Given the description of an element on the screen output the (x, y) to click on. 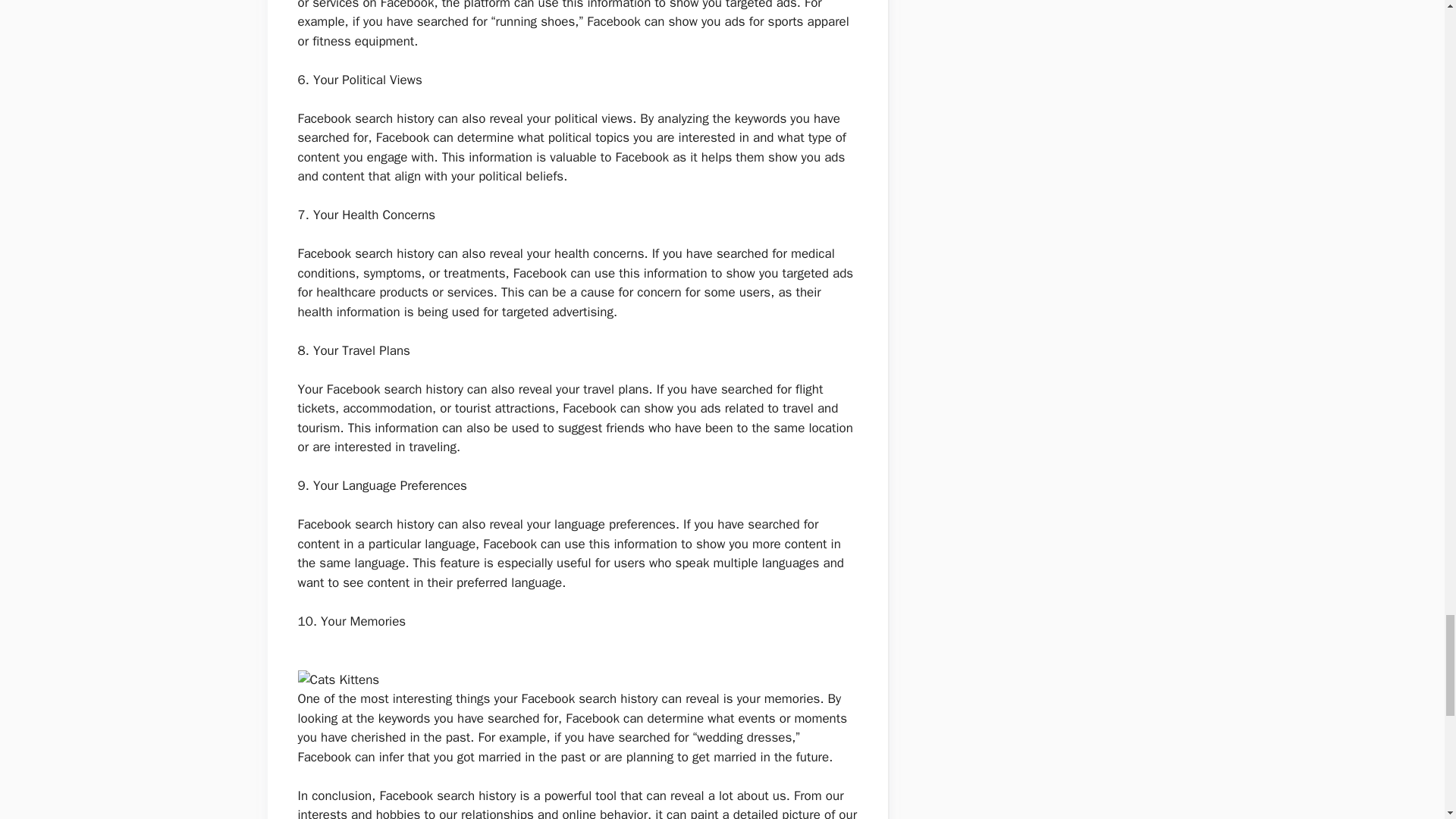
Cats Kittens (337, 680)
